Given the description of an element on the screen output the (x, y) to click on. 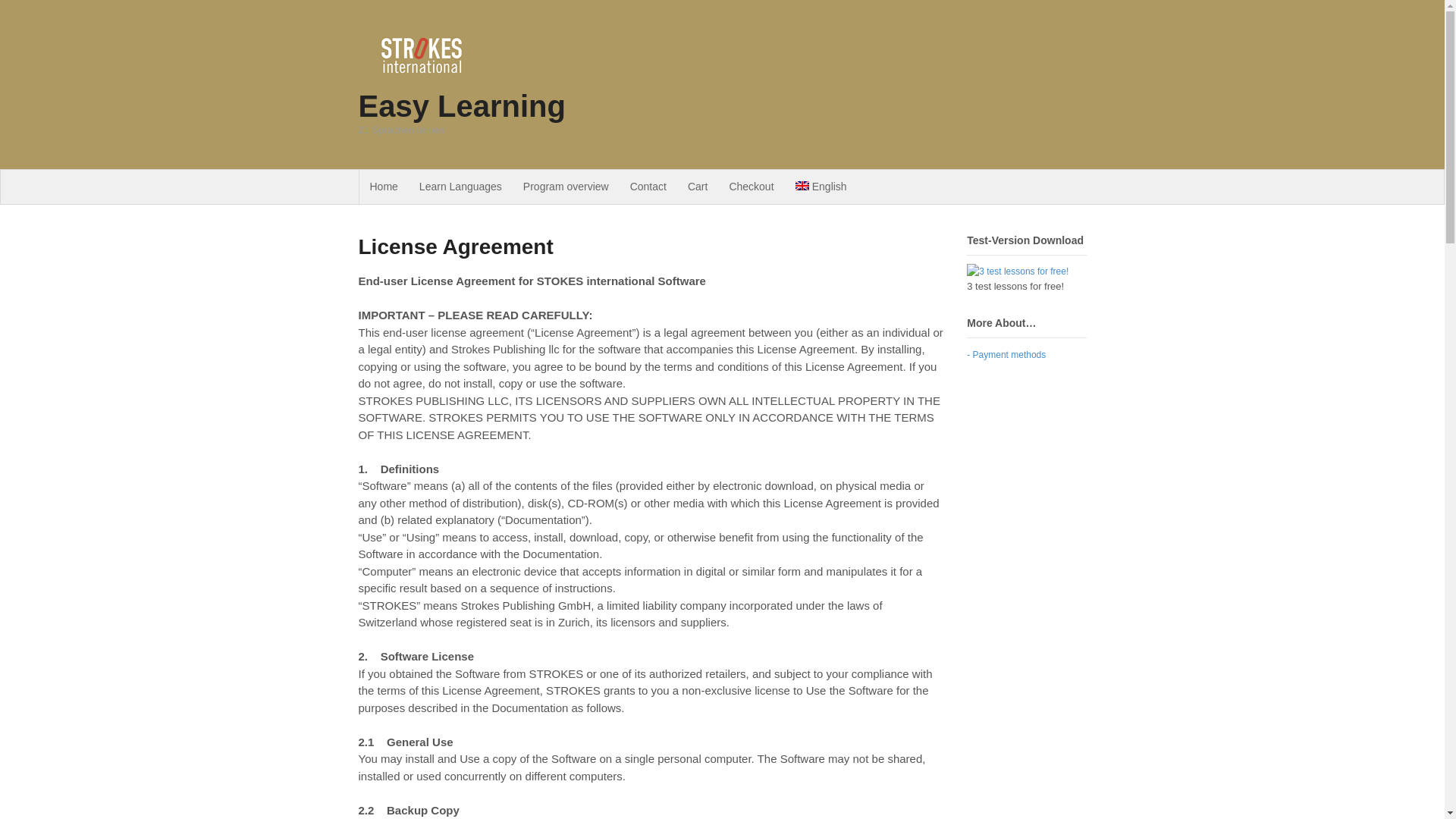
Test-Version Download (1017, 271)
English (820, 186)
Learn Languages (460, 186)
- Payment methods (1005, 354)
Cart (697, 186)
English (820, 186)
Search (1071, 221)
21 Sprachen lernen (433, 82)
Home (384, 186)
Checkout (750, 186)
